Given the description of an element on the screen output the (x, y) to click on. 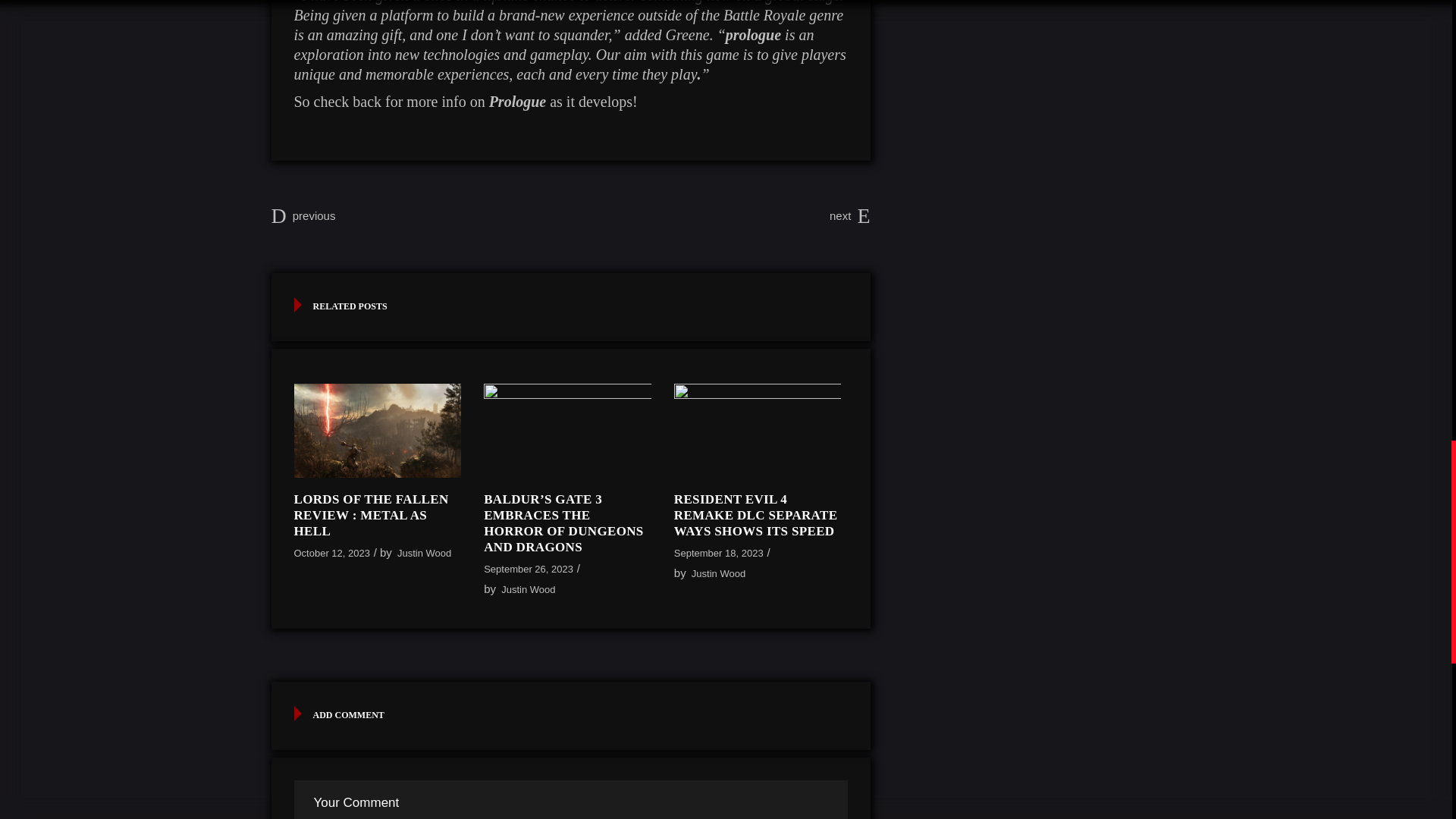
Lords of the Fallen Review : Metal as Hell (371, 515)
Lords of the Fallen Review : Metal as Hell (377, 430)
Resident Evil 4 Remake DLC Separate Ways Shows its speed (757, 430)
Resident Evil 4 Remake DLC Separate Ways Shows its speed (756, 515)
